Given the description of an element on the screen output the (x, y) to click on. 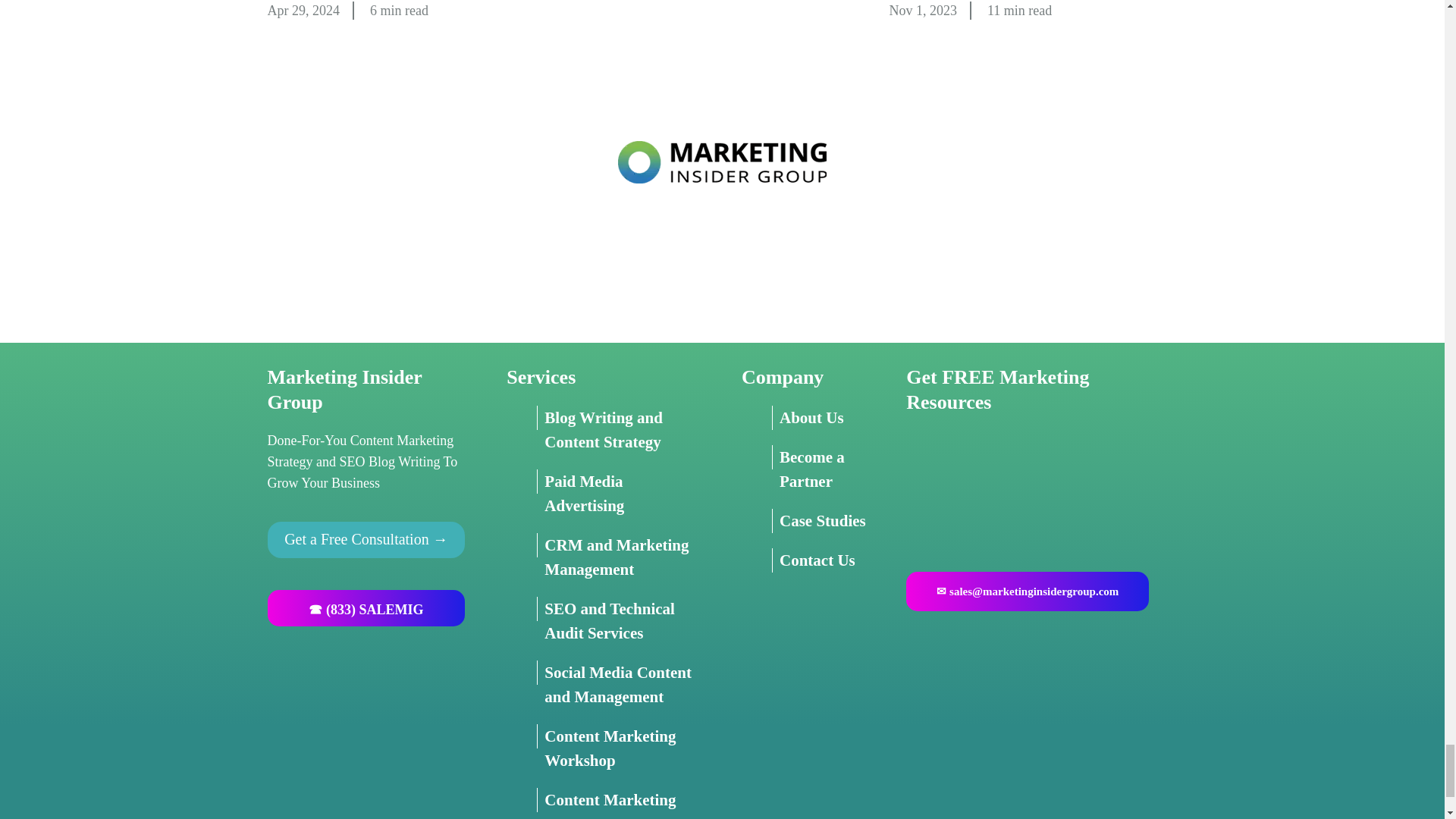
Registration (1040, 486)
